Given the description of an element on the screen output the (x, y) to click on. 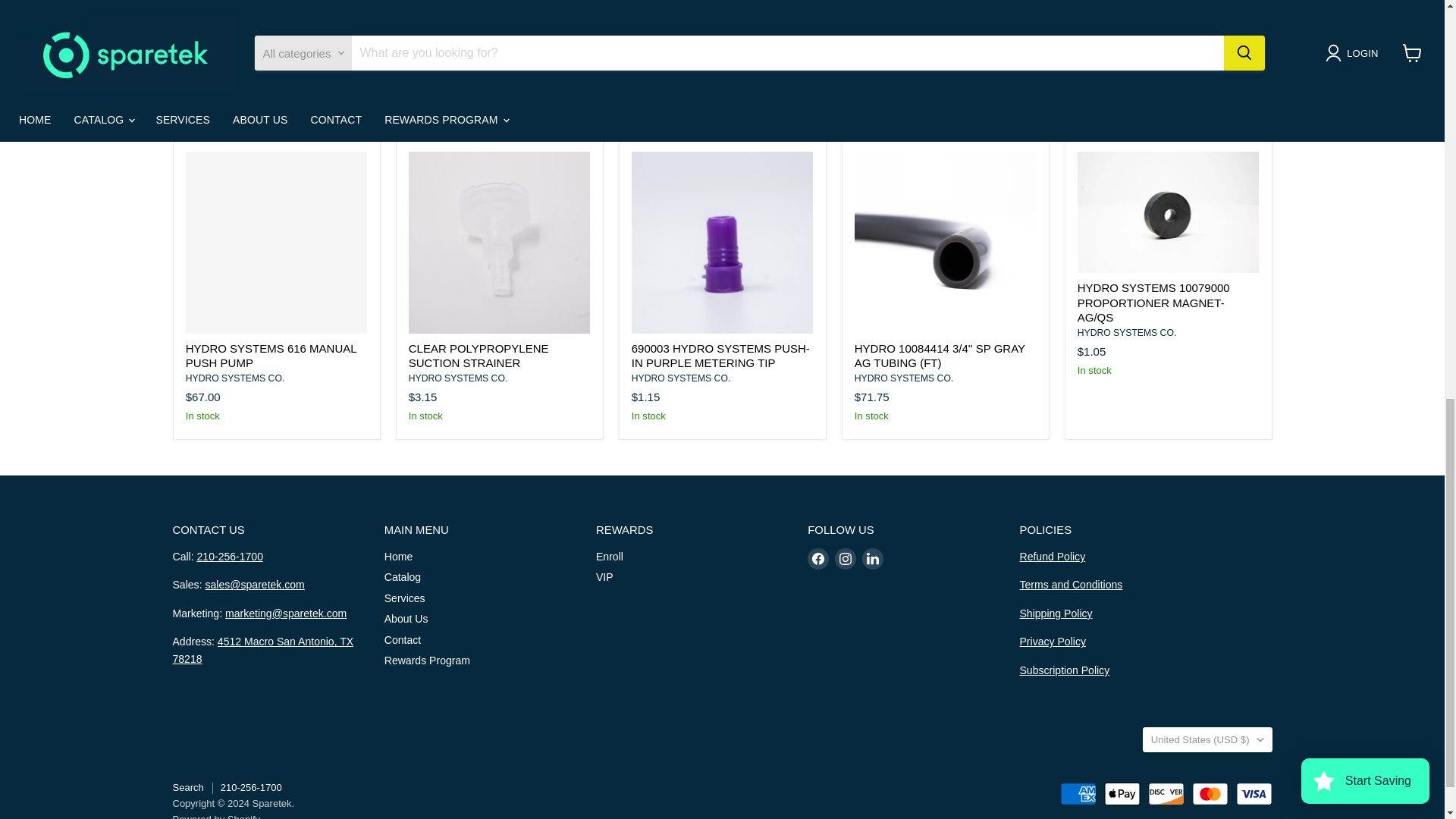
Call:2102561700 (229, 556)
HYDRO SYSTEMS CO. (1126, 332)
Apple Pay (1121, 793)
American Express (1077, 793)
LinkedIn (872, 558)
Sparetek's Address (263, 650)
HYDRO SYSTEMS CO. (458, 378)
HYDRO SYSTEMS CO. (235, 378)
HYDRO SYSTEMS CO. (903, 378)
HYDRO SYSTEMS CO. (680, 378)
